Given the description of an element on the screen output the (x, y) to click on. 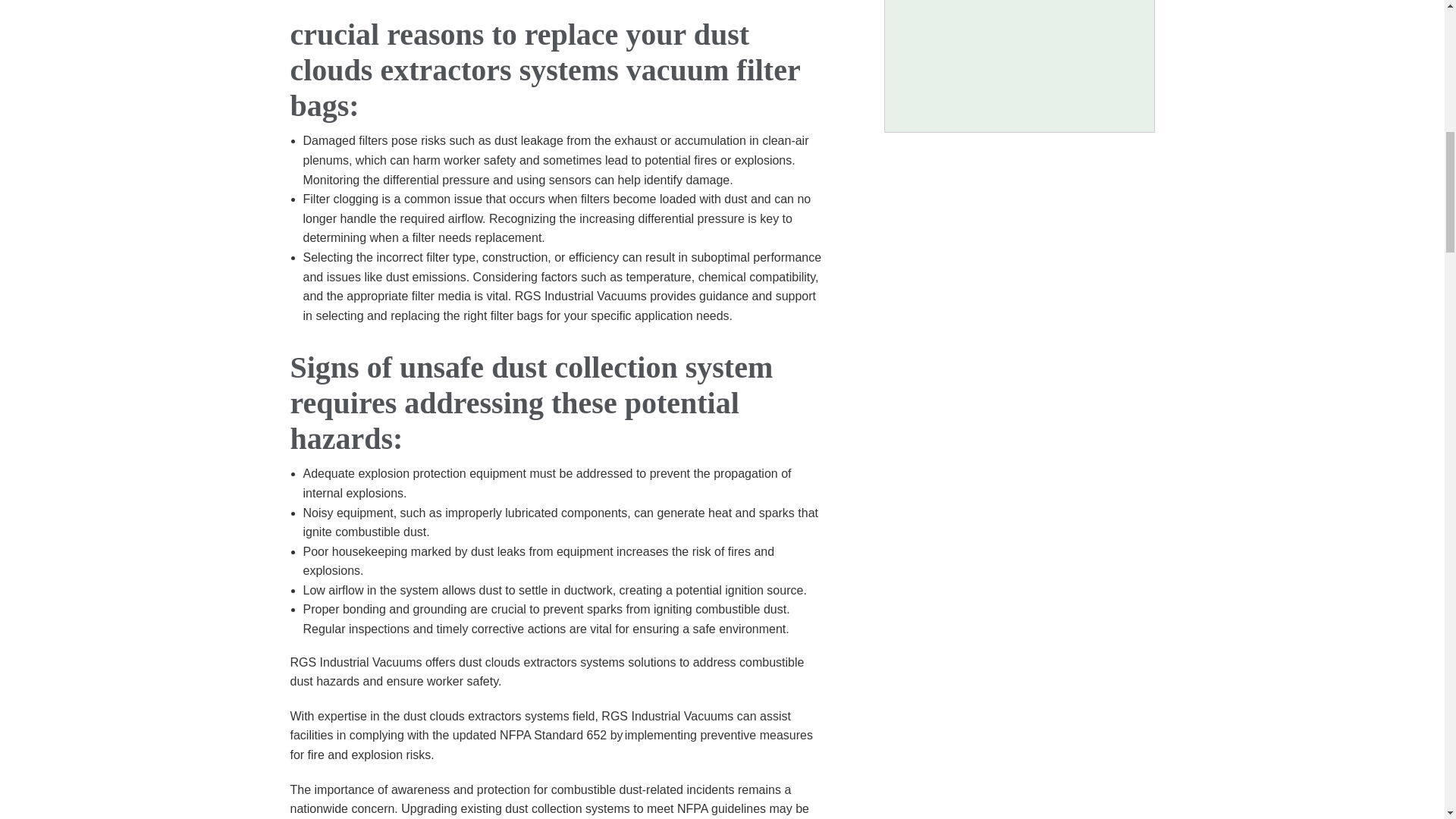
Form 1 (1022, 56)
